Given the description of an element on the screen output the (x, y) to click on. 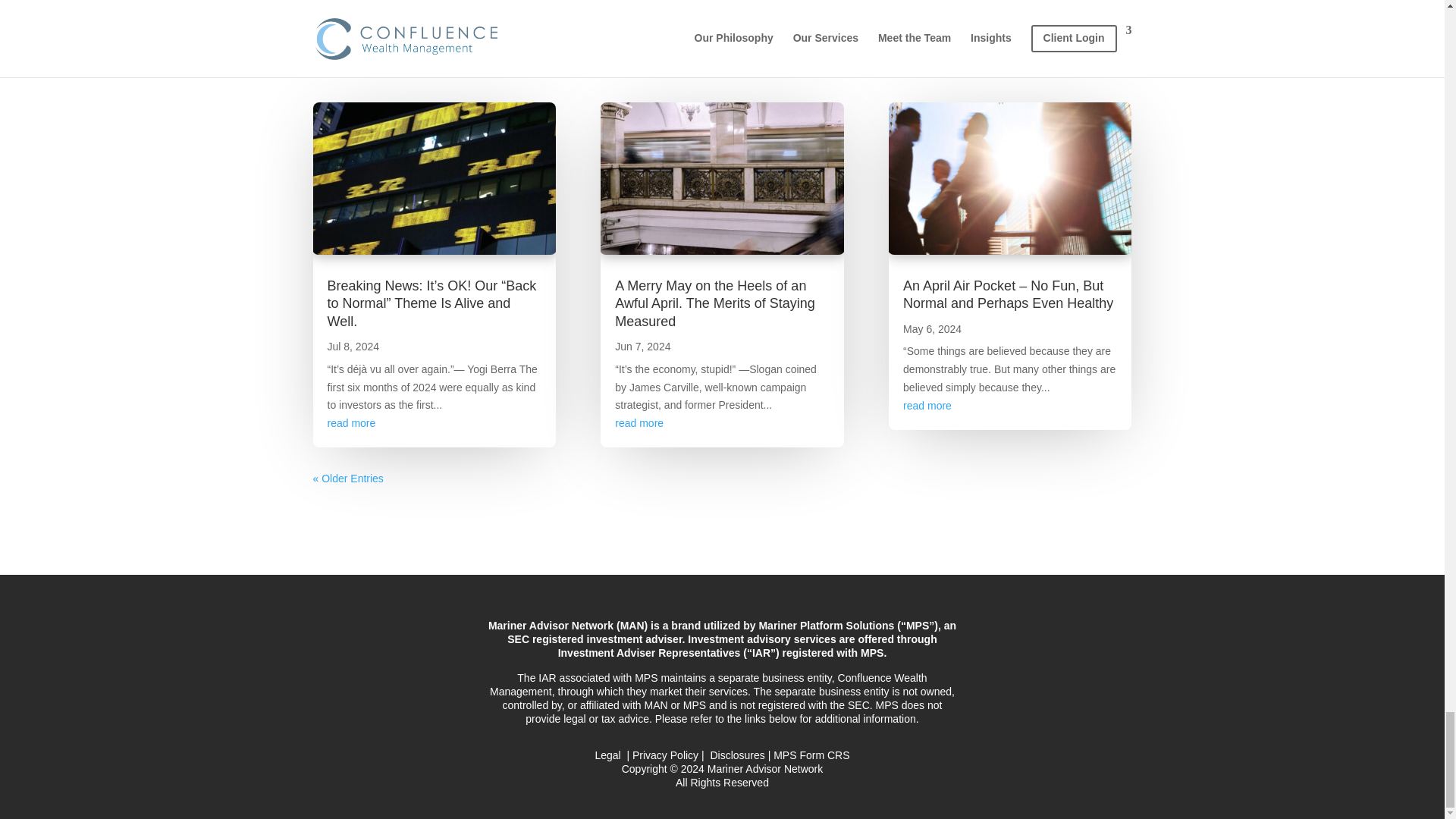
read more (927, 405)
read more (351, 422)
Privacy Policy (664, 755)
Legal  (608, 755)
read more (638, 422)
Disclosures (737, 755)
MPS Form CRS (810, 755)
